Given the description of an element on the screen output the (x, y) to click on. 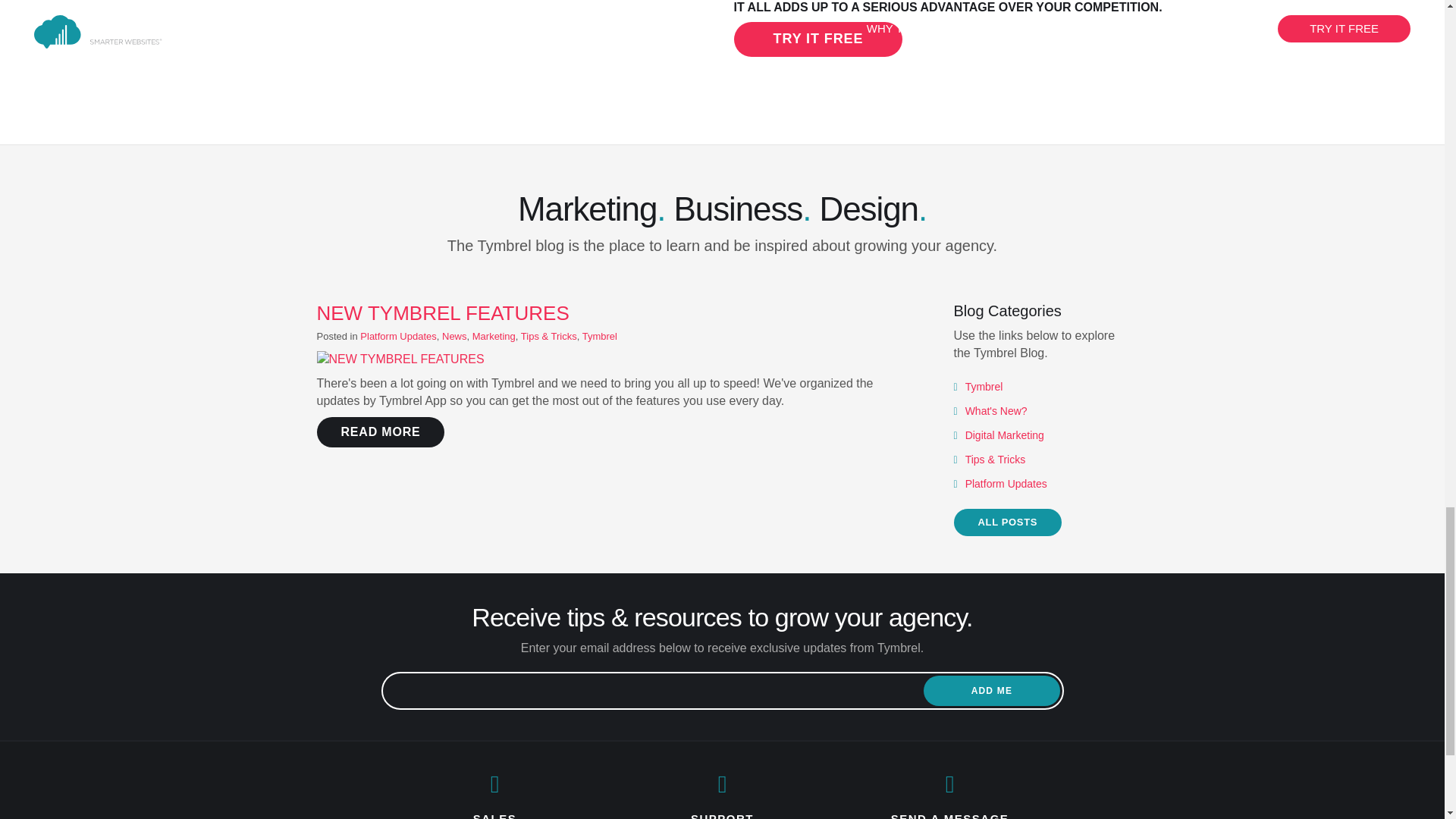
Platform Updates (1005, 483)
Add Me (991, 690)
What's New? (996, 410)
News (454, 336)
TRY IT FREE (817, 39)
Tymbrel (984, 386)
Marketing (493, 336)
Platform Updates (397, 336)
Digital Marketing (1004, 435)
READ MORE (381, 431)
NEW TYMBREL FEATURES (443, 313)
Read The Tymbrel Blog (1007, 522)
Tymbrel (599, 336)
